Given the description of an element on the screen output the (x, y) to click on. 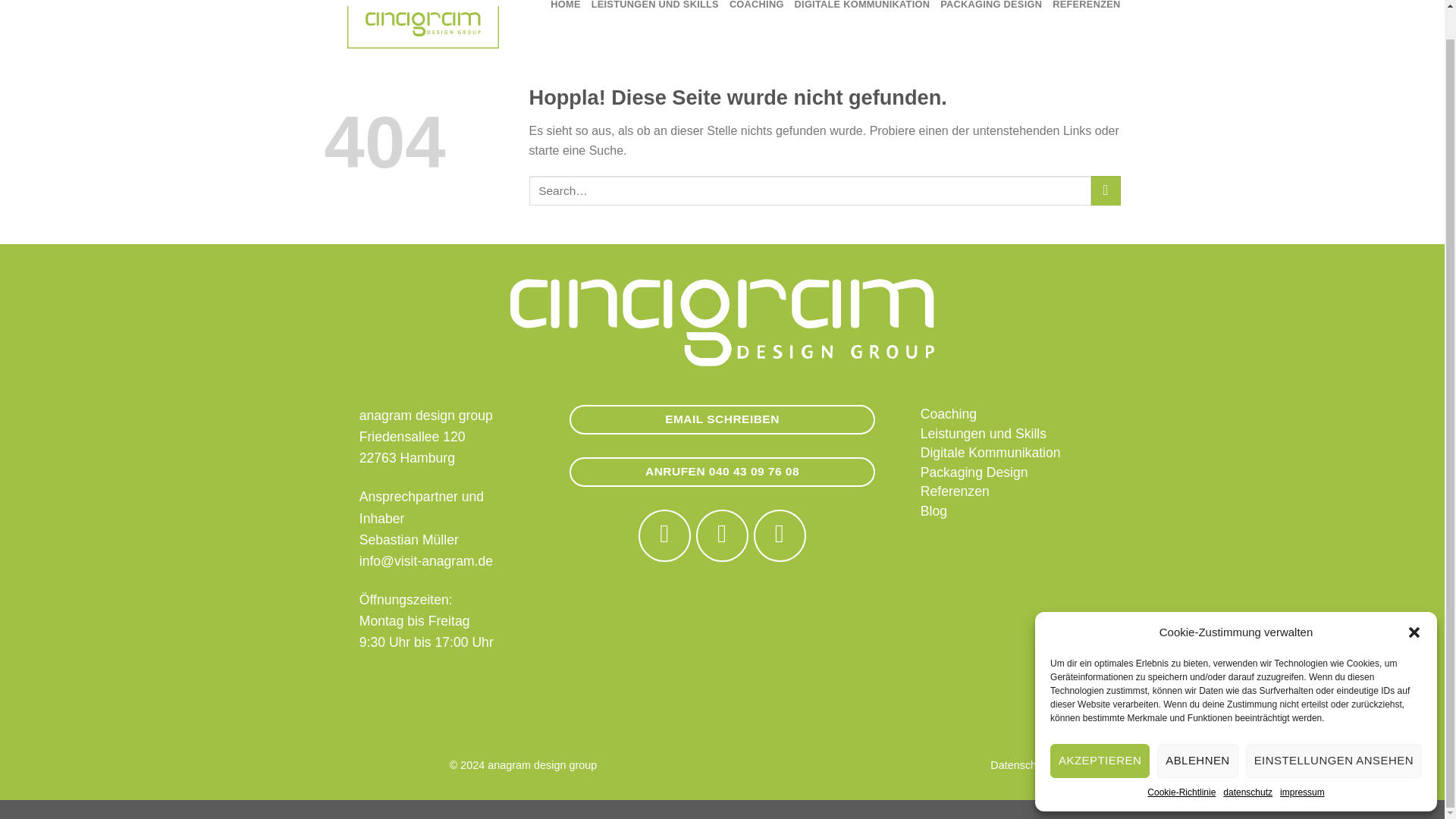
ABLEHNEN (1197, 731)
Digitale Kommunikation (990, 452)
ANRUFEN 040 43 09 76 08 (722, 471)
visit-anagram.de (423, 26)
Packaging Design (973, 472)
EMAIL SCHREIBEN (722, 419)
Blog (933, 510)
Impressum (1092, 765)
COACHING (756, 9)
HOME (564, 9)
Referenzen (955, 491)
Auf Instagram folgen (721, 535)
Cookie-Richtlinie (1181, 762)
REFERENZEN (1085, 9)
Leistungen und Skills (983, 433)
